Given the description of an element on the screen output the (x, y) to click on. 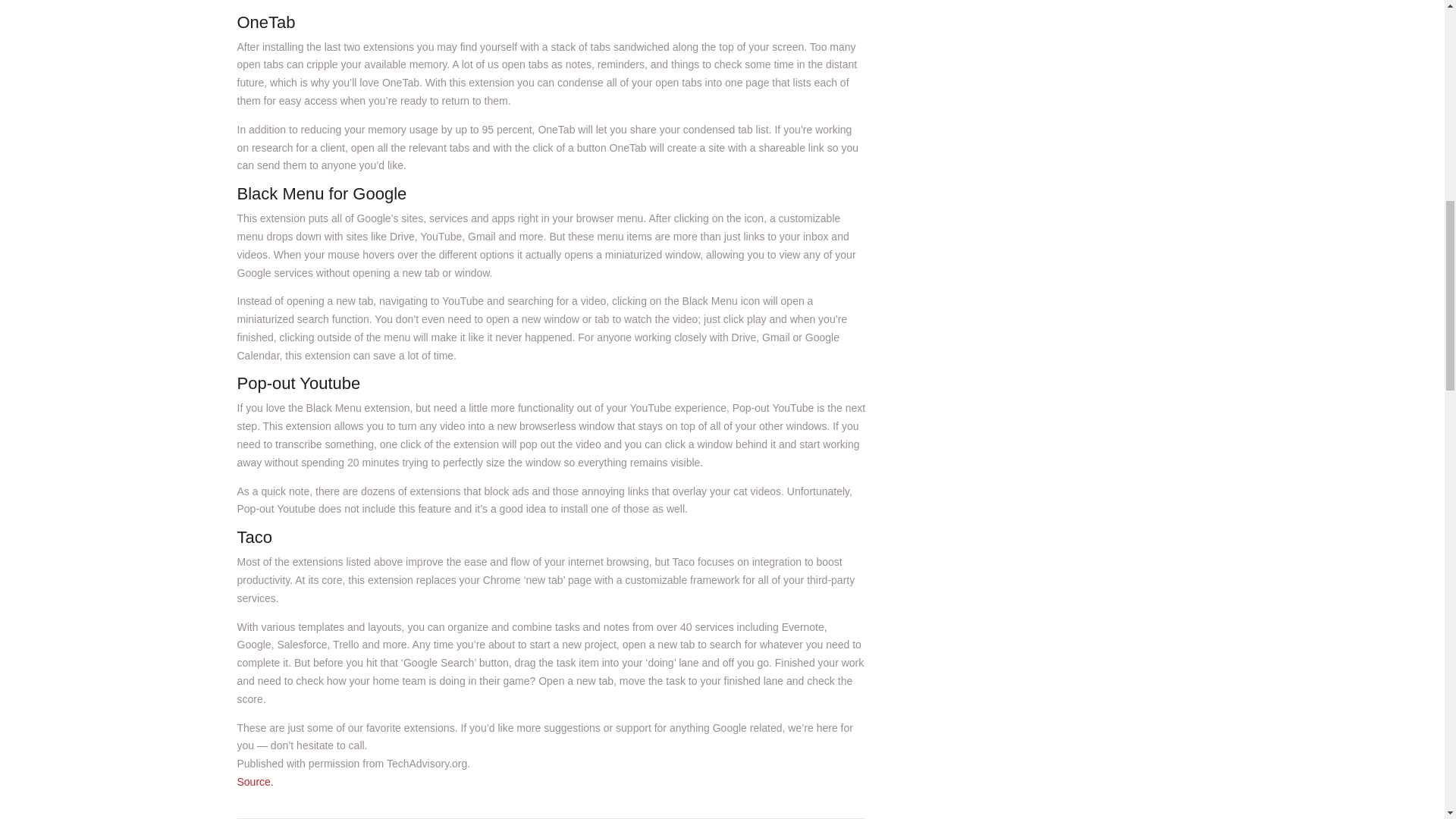
Source. (254, 781)
